Given the description of an element on the screen output the (x, y) to click on. 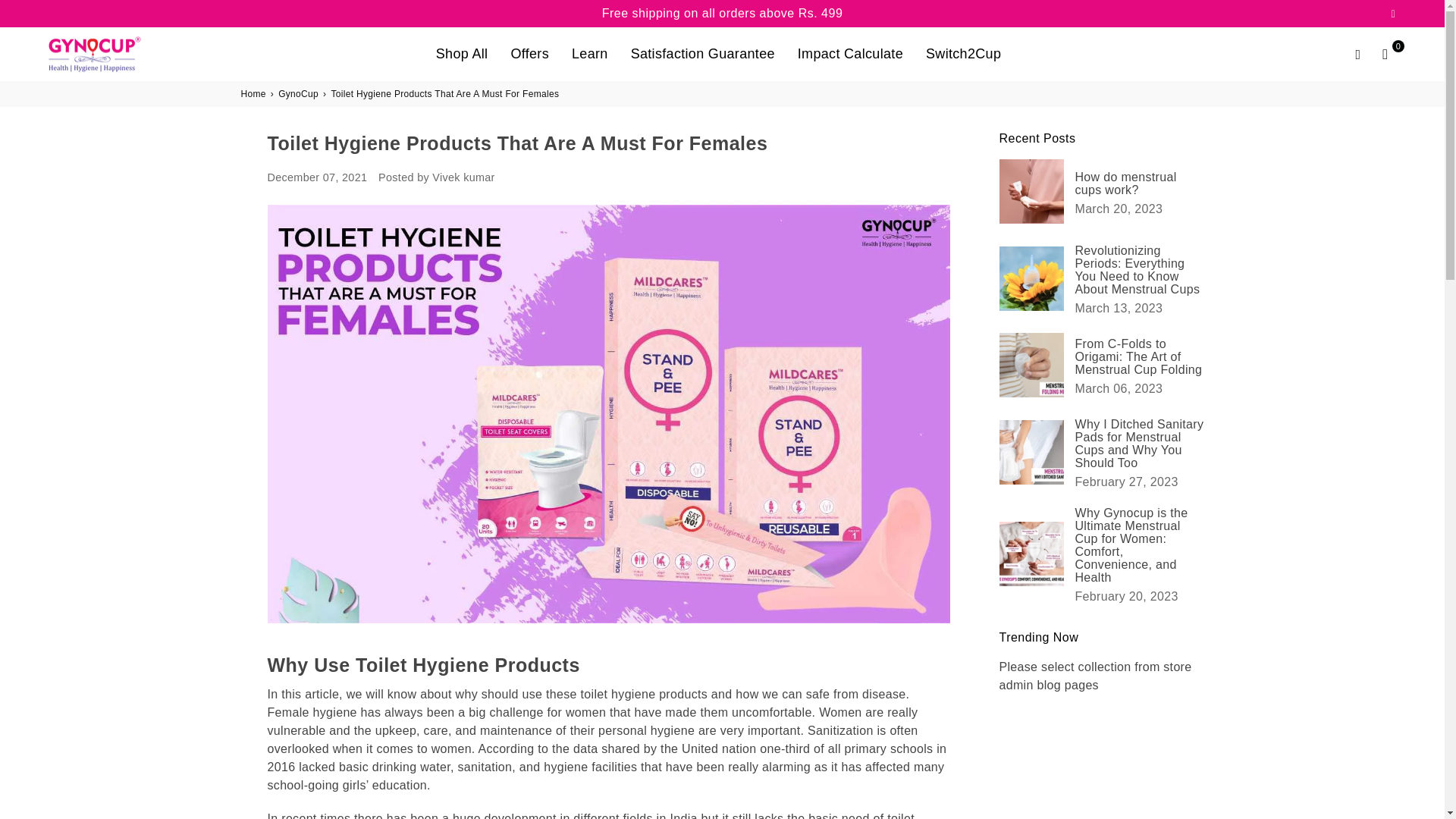
Satisfaction Guarantee (703, 53)
Back to the home page (254, 93)
0 (1385, 53)
GYNOCUP (109, 53)
Free shipping on all orders above Rs. 499 (722, 13)
Offers (529, 53)
Cart (1385, 53)
Search (1357, 53)
Learn (589, 53)
Switch2Cup (963, 53)
